Given the description of an element on the screen output the (x, y) to click on. 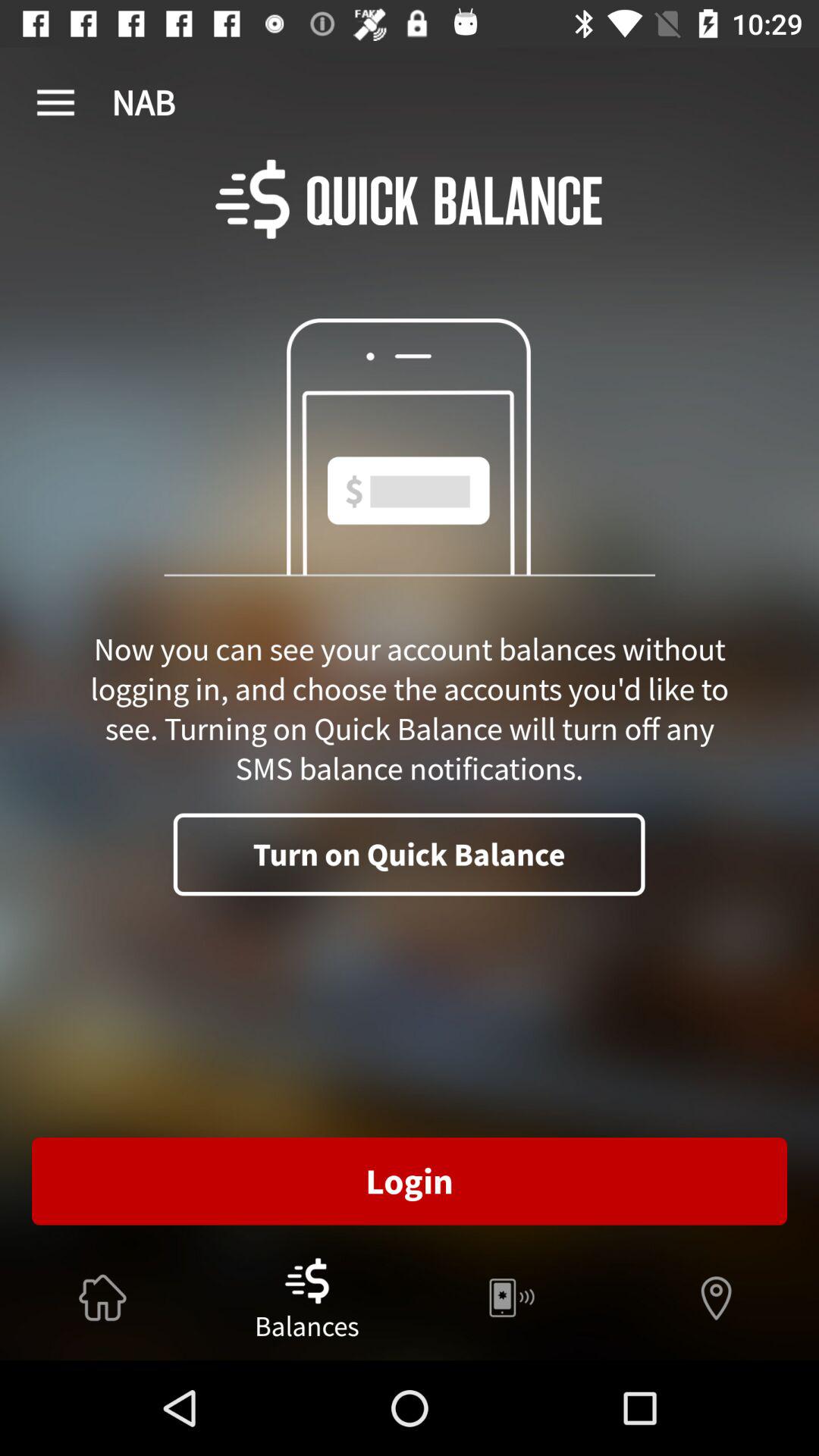
click app to the left of nab (55, 103)
